Given the description of an element on the screen output the (x, y) to click on. 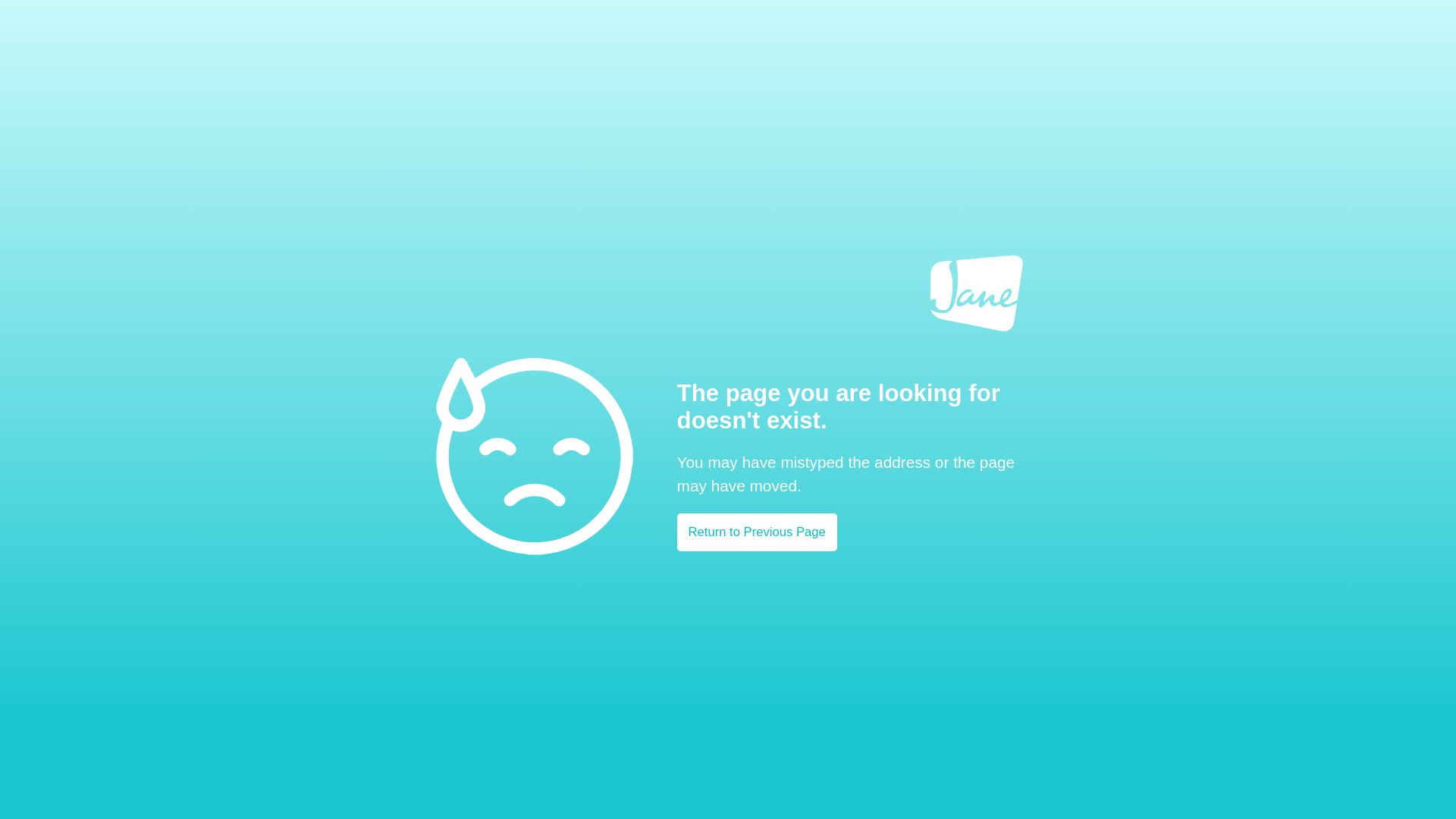
Return to Previous Page Element type: text (757, 532)
